Given the description of an element on the screen output the (x, y) to click on. 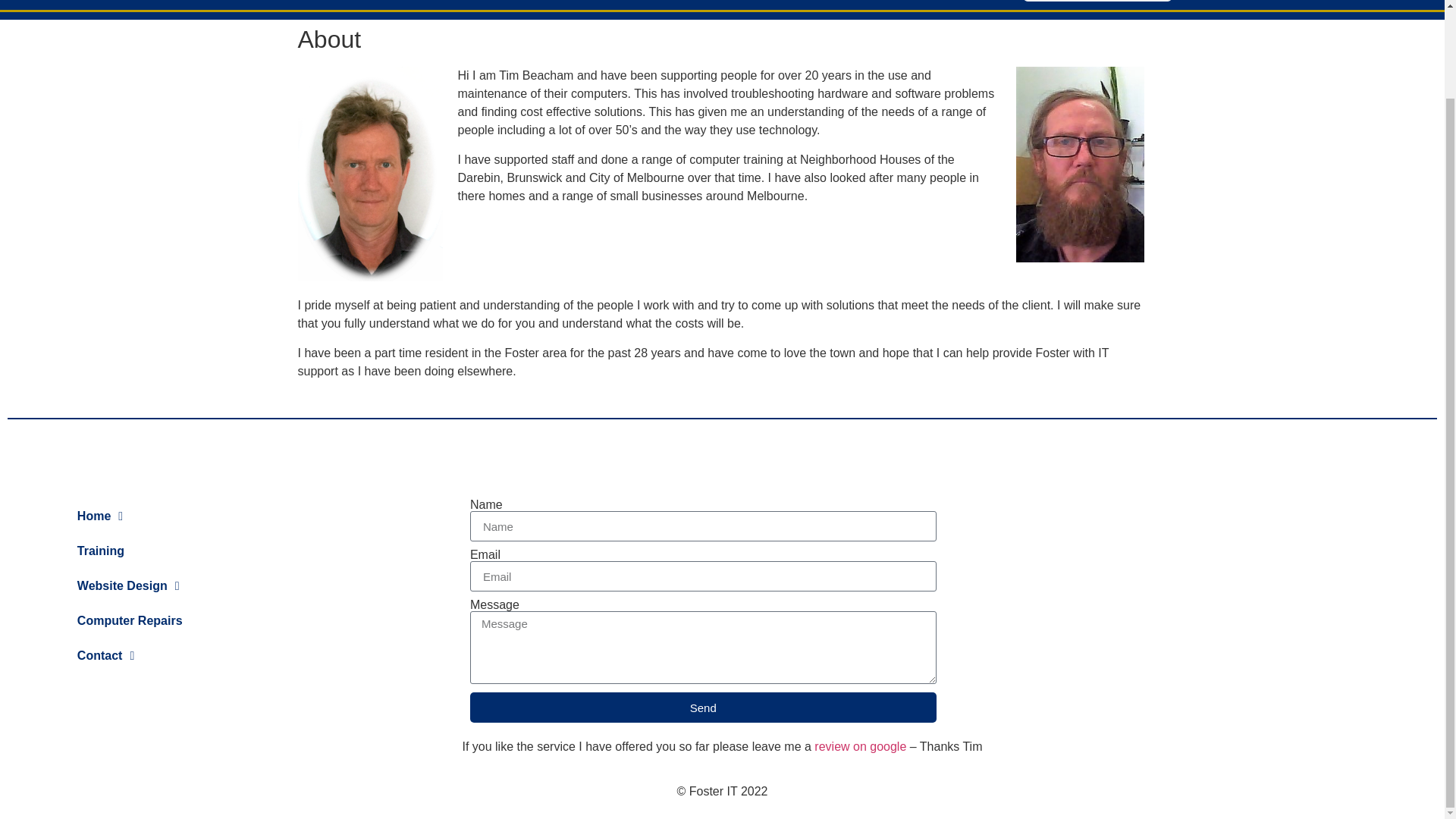
WEBSITE DESIGN (679, 2)
Website Design (186, 585)
Training (186, 550)
Foster IT, 50 Main St Foster 3960 (1251, 598)
Home (186, 515)
CONTACT (963, 2)
TRAINING (560, 2)
Contact (186, 655)
HOME (474, 2)
Computer Repairs (186, 620)
COMPUTER REPAIRS (833, 2)
